Given the description of an element on the screen output the (x, y) to click on. 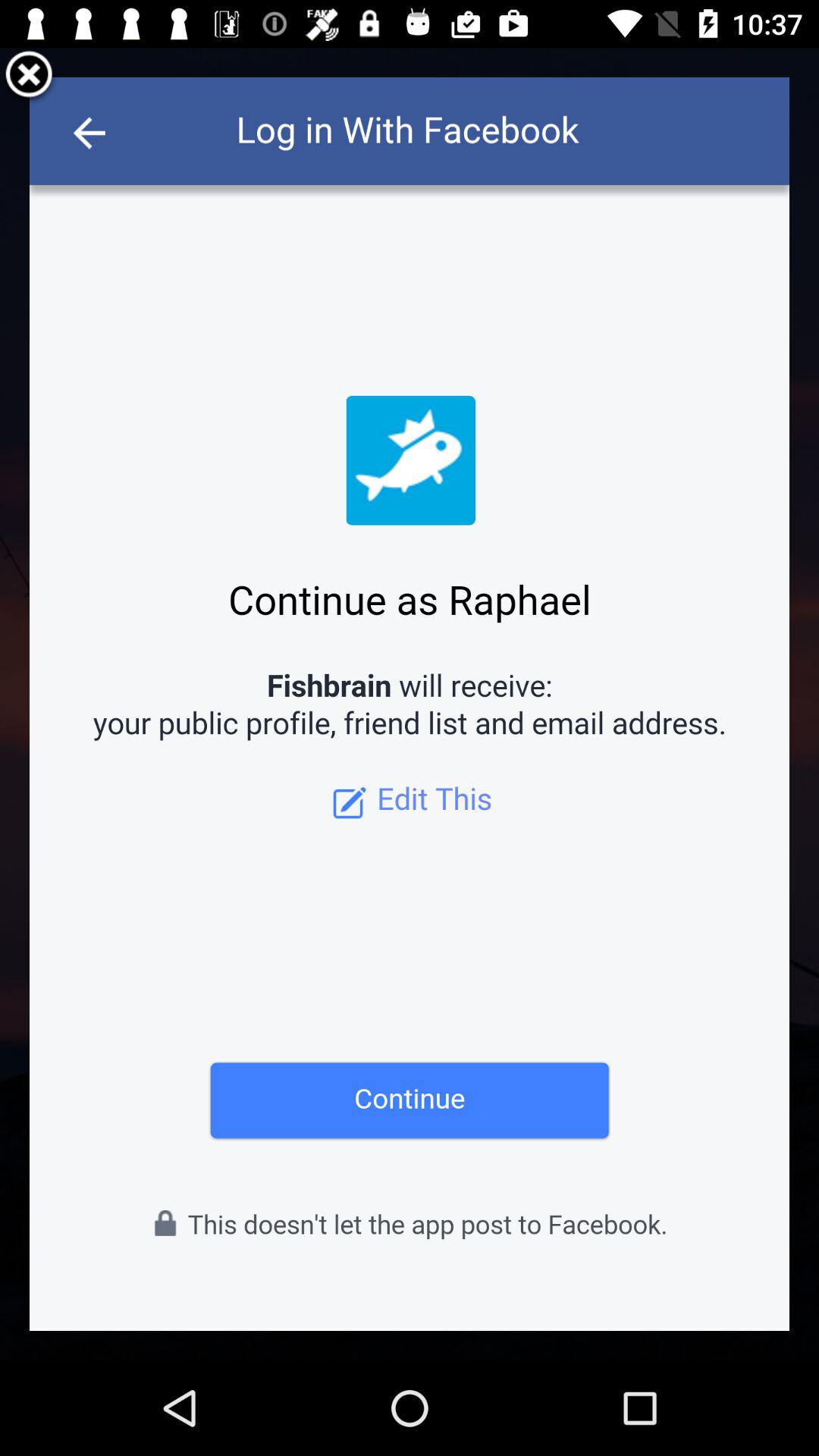
for add link (409, 703)
